Given the description of an element on the screen output the (x, y) to click on. 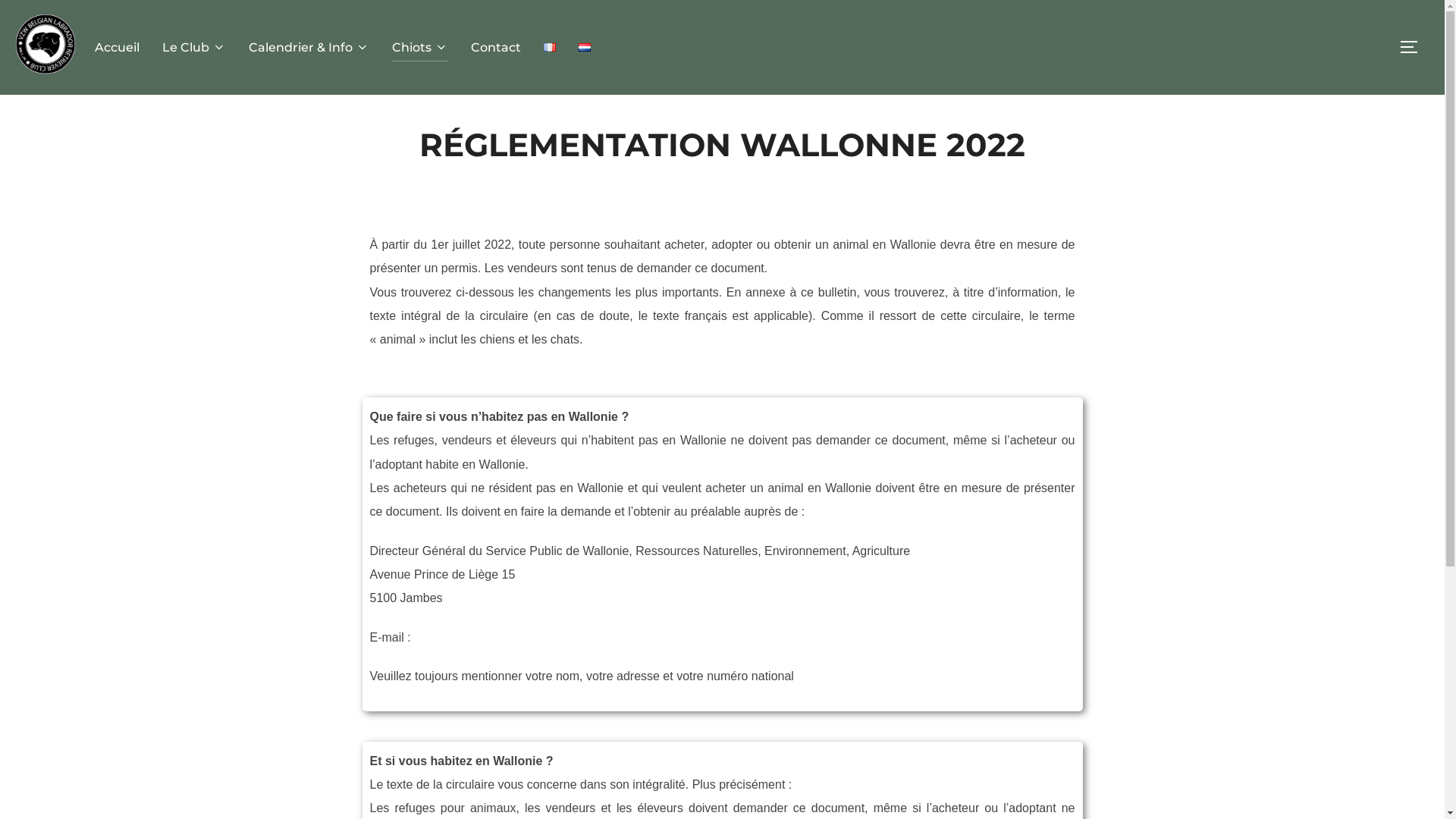
Chiots Element type: text (420, 47)
Accueil Element type: text (116, 47)
Contact Element type: text (495, 47)
fichiercentral.environnement@spw.wallonie.be Element type: text (538, 636)
Le Club Element type: text (193, 47)
Calendrier & Info Element type: text (308, 47)
